Given the description of an element on the screen output the (x, y) to click on. 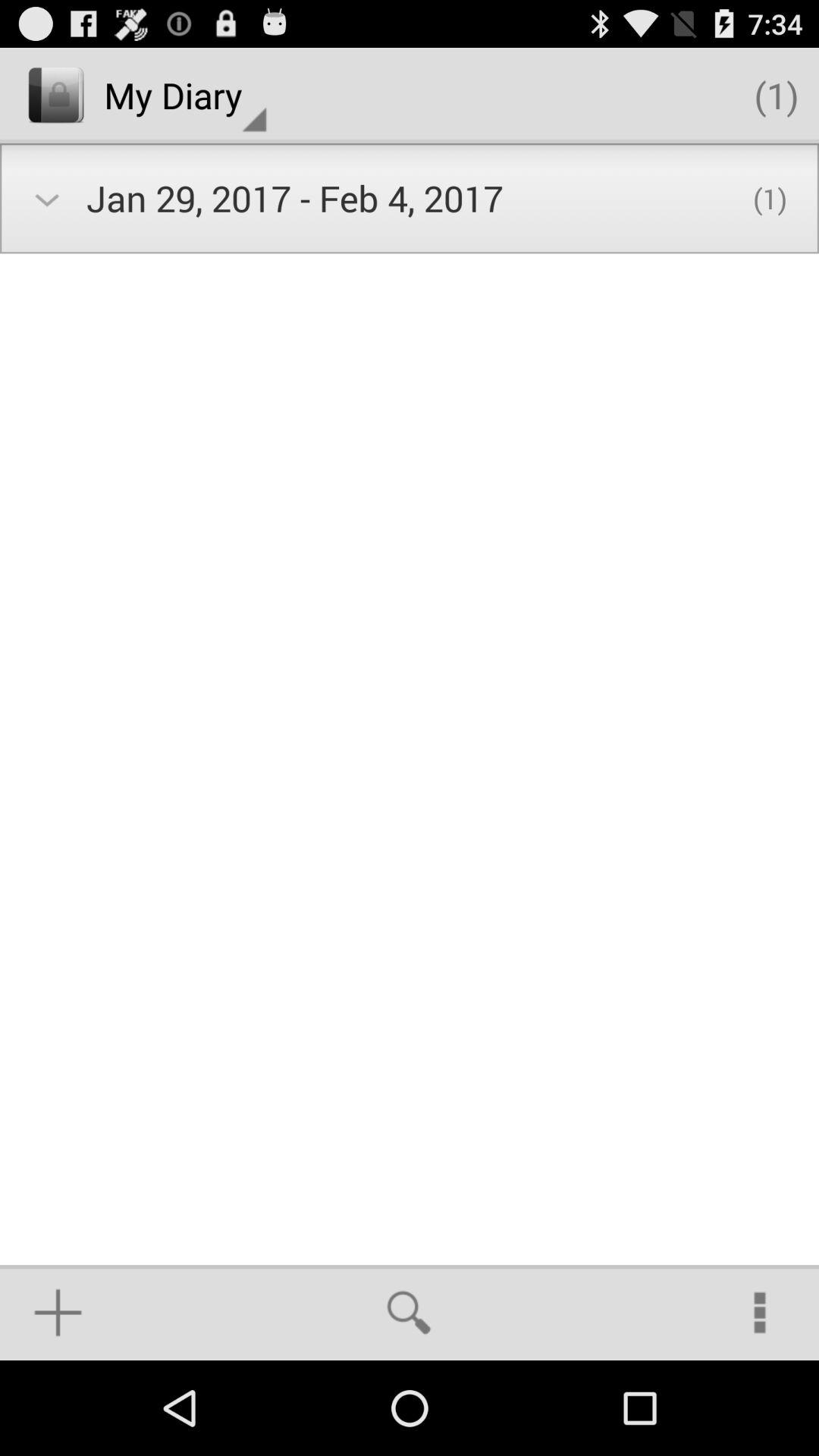
open the item at the bottom (408, 1312)
